Given the description of an element on the screen output the (x, y) to click on. 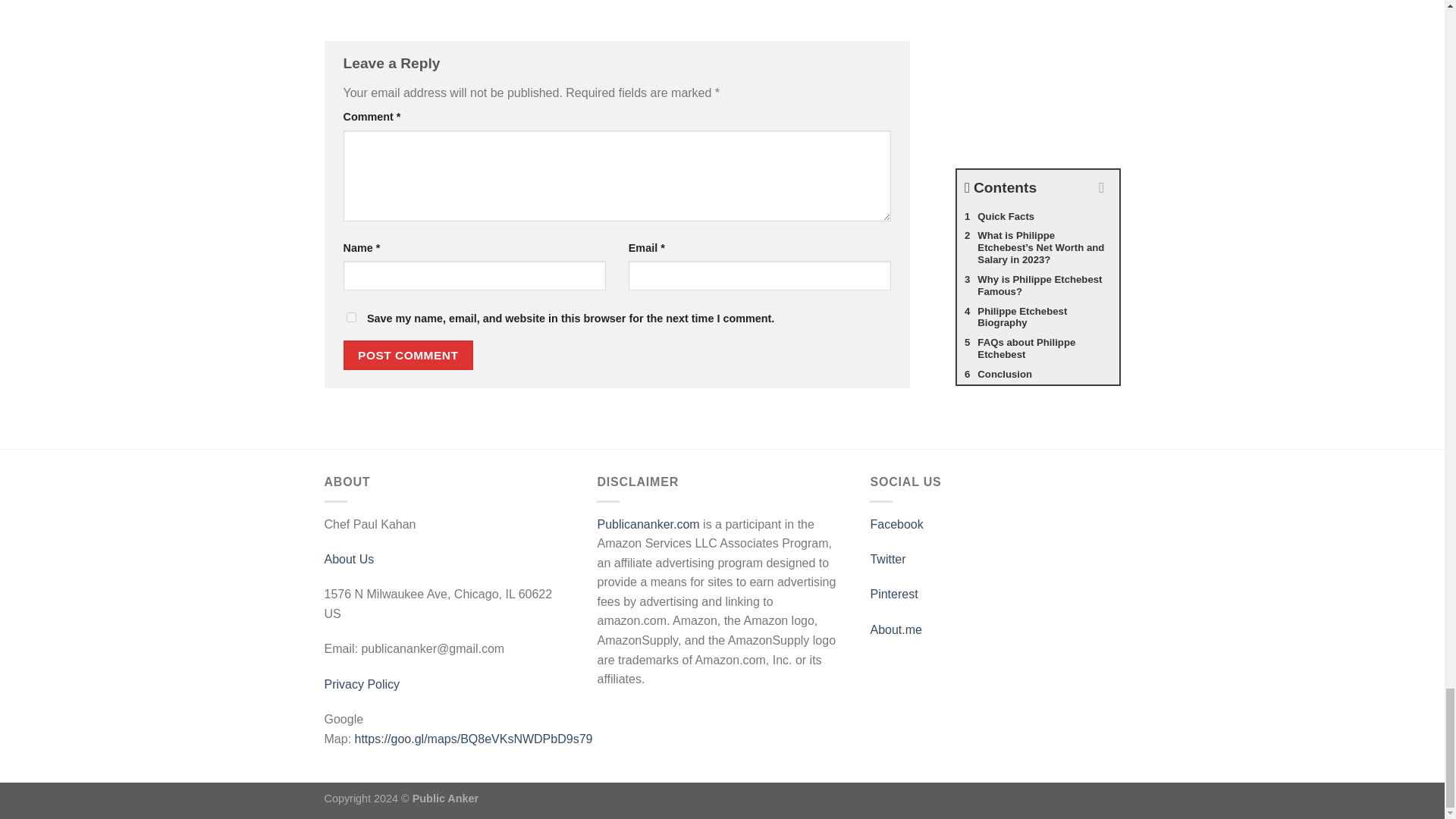
Facebook (896, 522)
yes (350, 317)
Post Comment (407, 355)
Post Comment (407, 355)
